Given the description of an element on the screen output the (x, y) to click on. 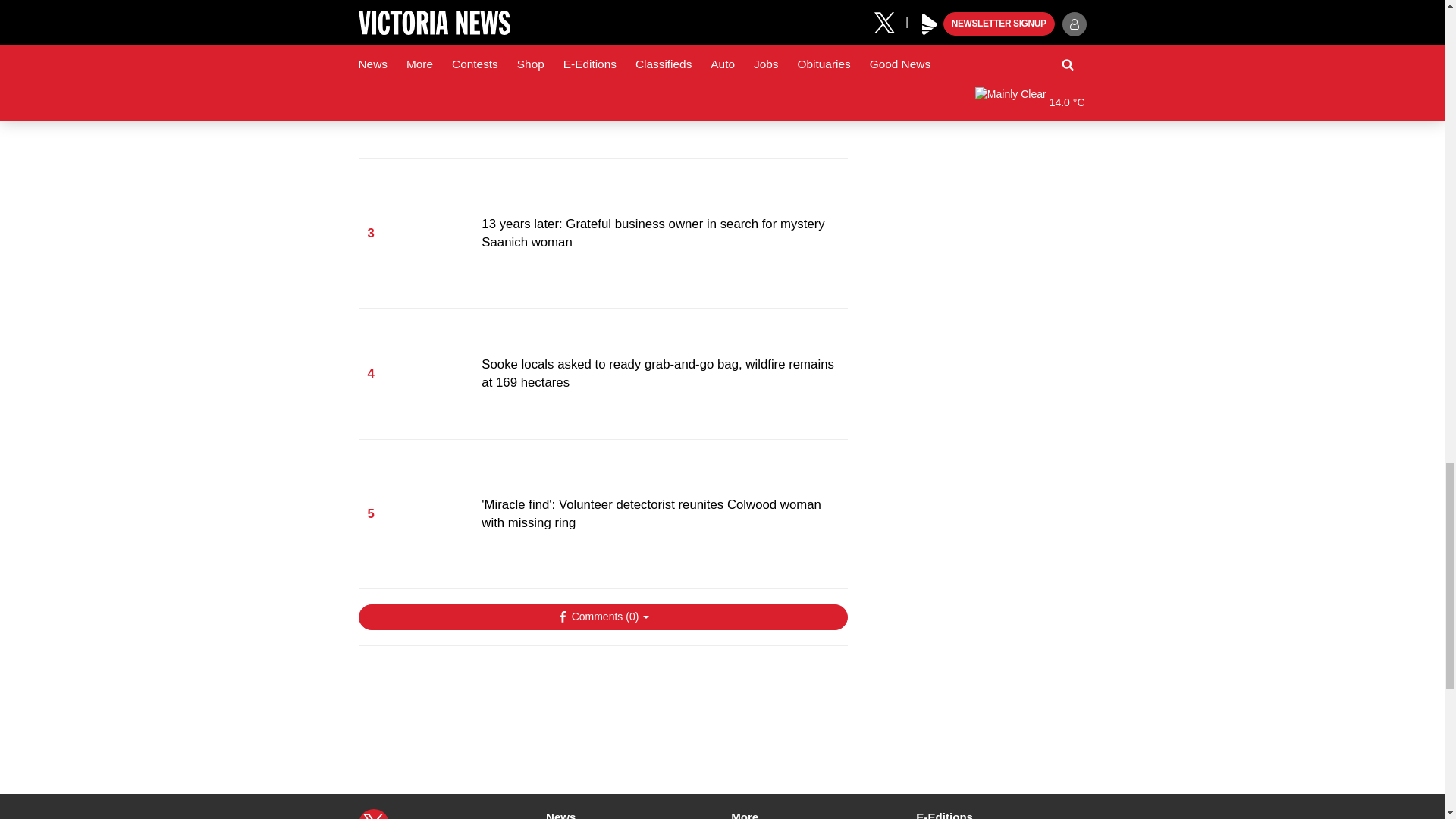
X (373, 814)
Show Comments (602, 616)
